Given the description of an element on the screen output the (x, y) to click on. 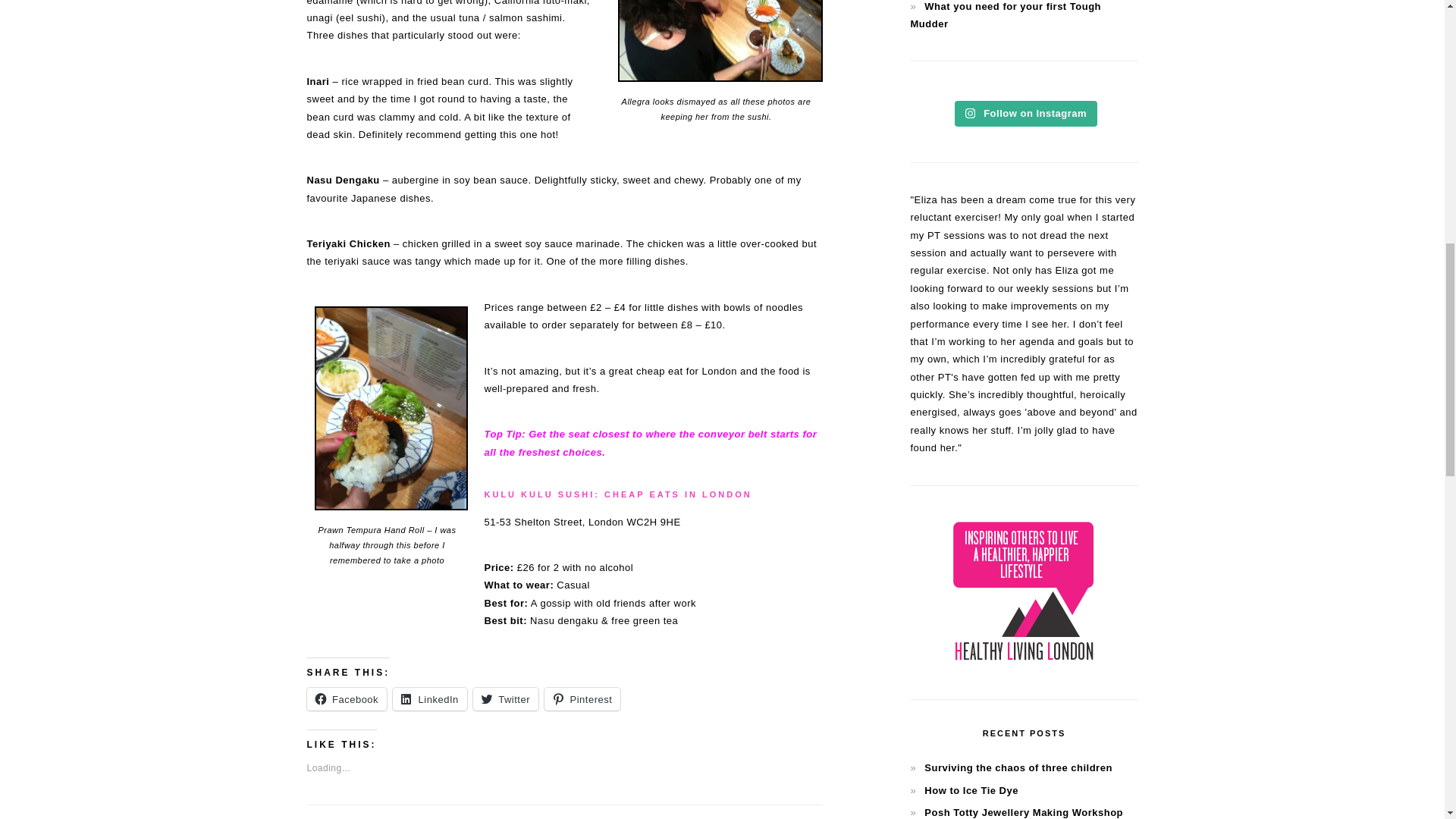
Click to share on Facebook (346, 698)
Click to share on Pinterest (582, 698)
KULU KULU SUSHI: CHEAP EATS IN LONDON (617, 493)
Twitter (505, 698)
Click to share on LinkedIn (430, 698)
LinkedIn (430, 698)
Kulu Kulu Sushi Allegra Catolfi Salvoni (719, 40)
Click to share on Twitter (505, 698)
Kulu Kulu Sushi: Cheap Eats (617, 493)
Pinterest (582, 698)
